Given the description of an element on the screen output the (x, y) to click on. 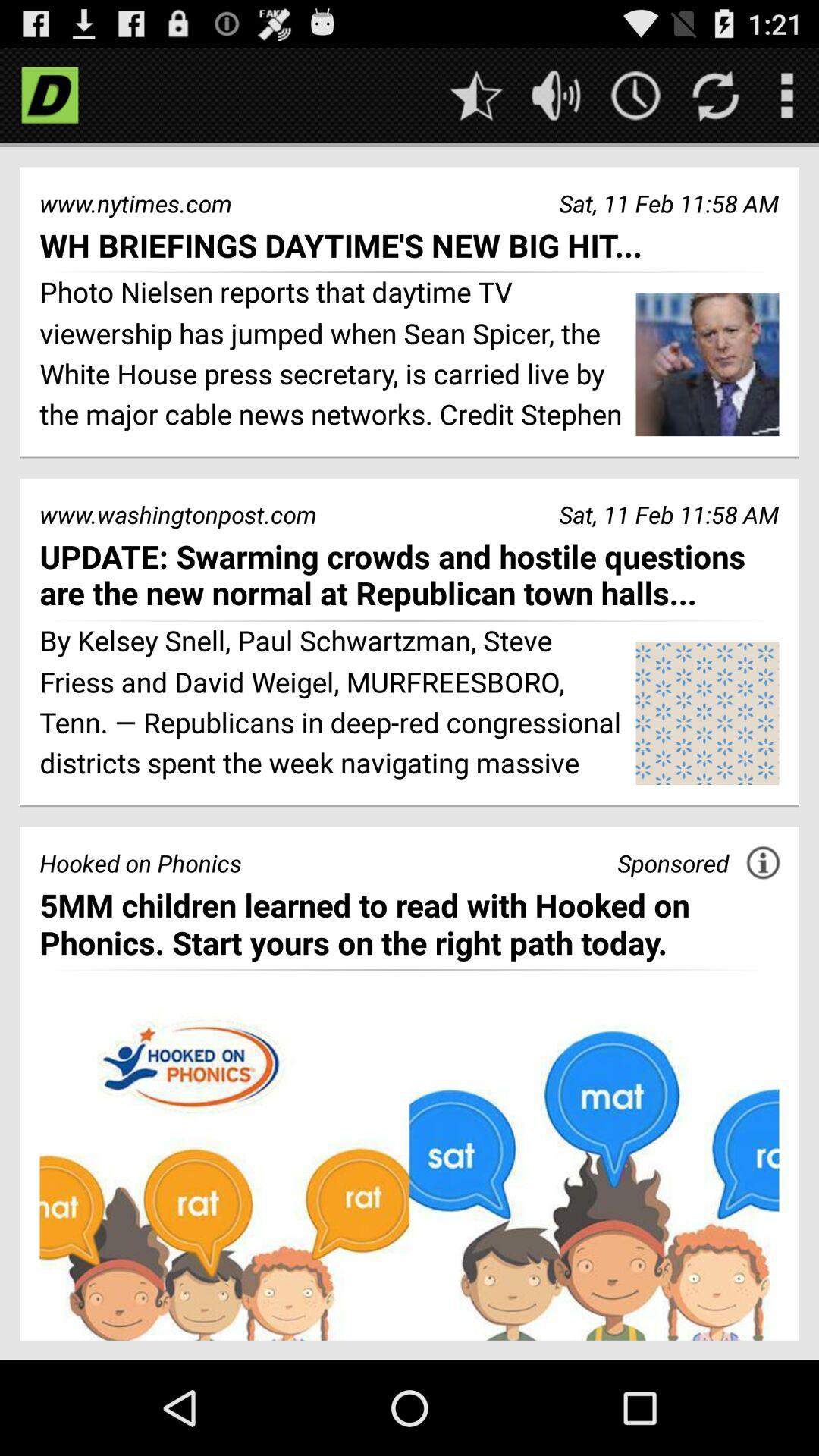
select the conent (409, 1175)
